Given the description of an element on the screen output the (x, y) to click on. 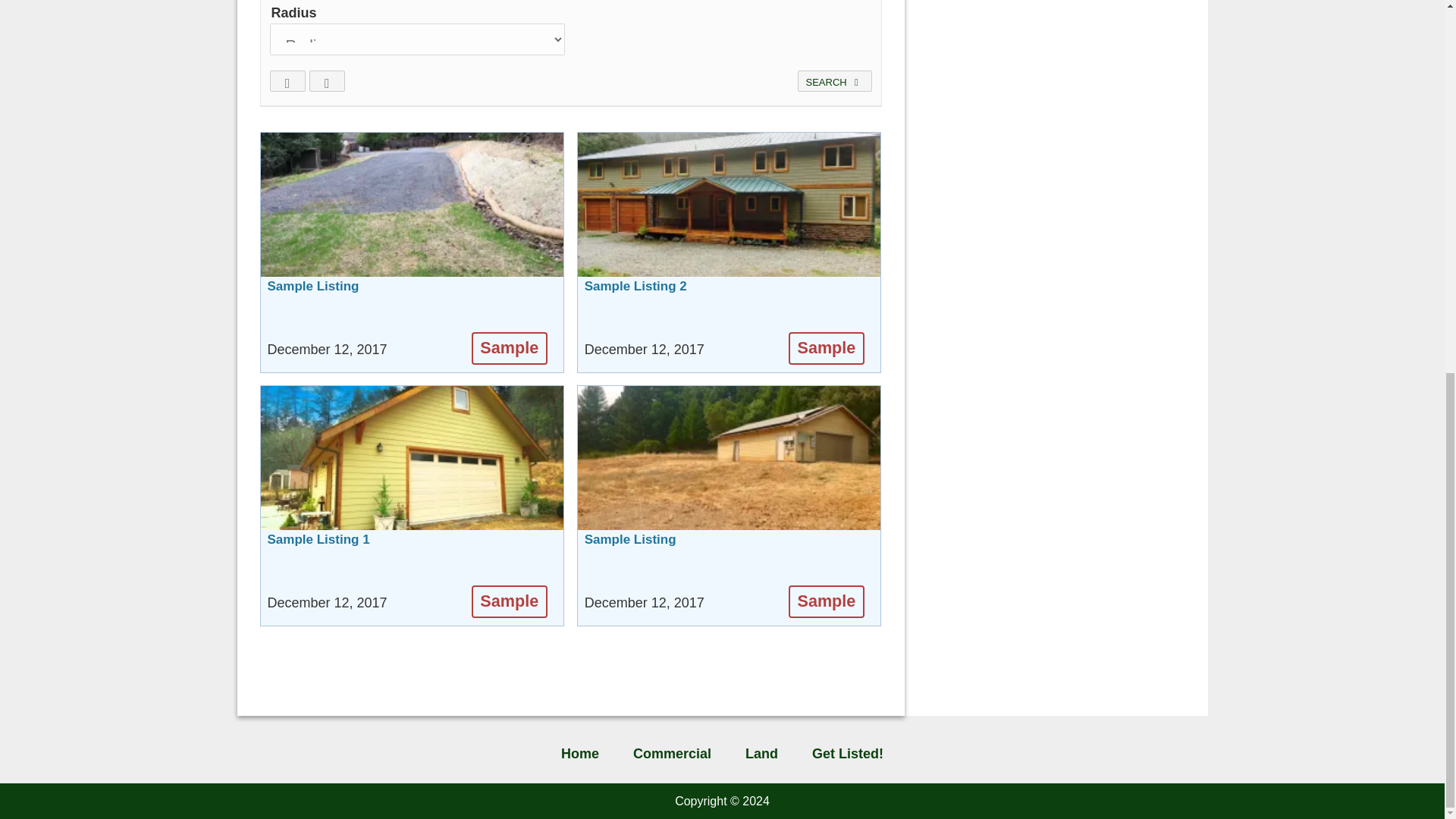
Home (580, 757)
Land (761, 757)
Sample Listing (412, 252)
Sample Listing (729, 505)
Get Listed! (847, 757)
Sample Listing 1 (317, 551)
Commercial (671, 757)
SEARCH (834, 80)
List (326, 80)
Sample Listing 2 (729, 252)
Sample Listing 2 (636, 297)
Sample Listing 1 (412, 505)
Grid (287, 80)
Sample Listing (312, 297)
Sample Listing (631, 551)
